Given the description of an element on the screen output the (x, y) to click on. 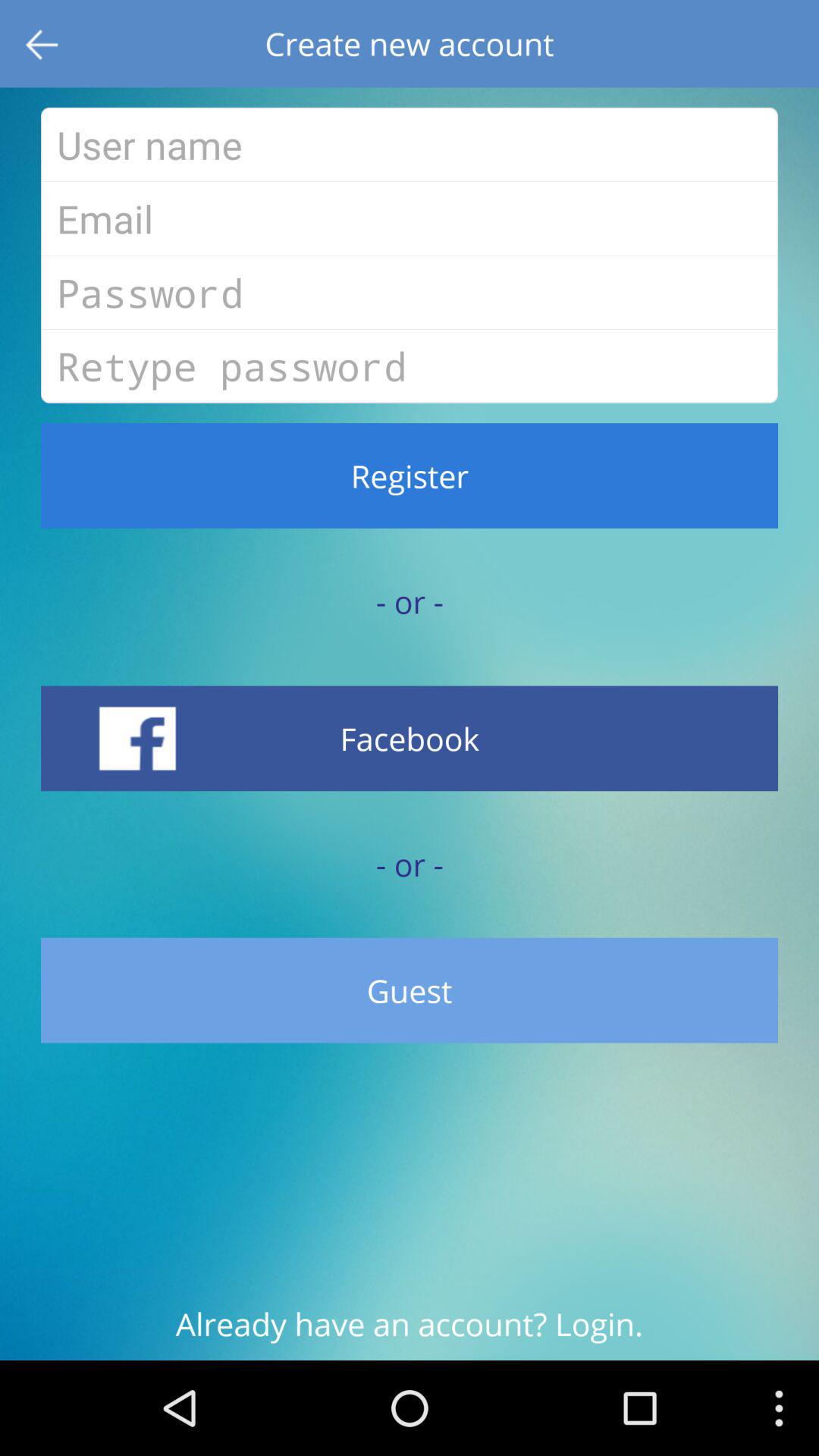
open icon at the top left corner (43, 43)
